Given the description of an element on the screen output the (x, y) to click on. 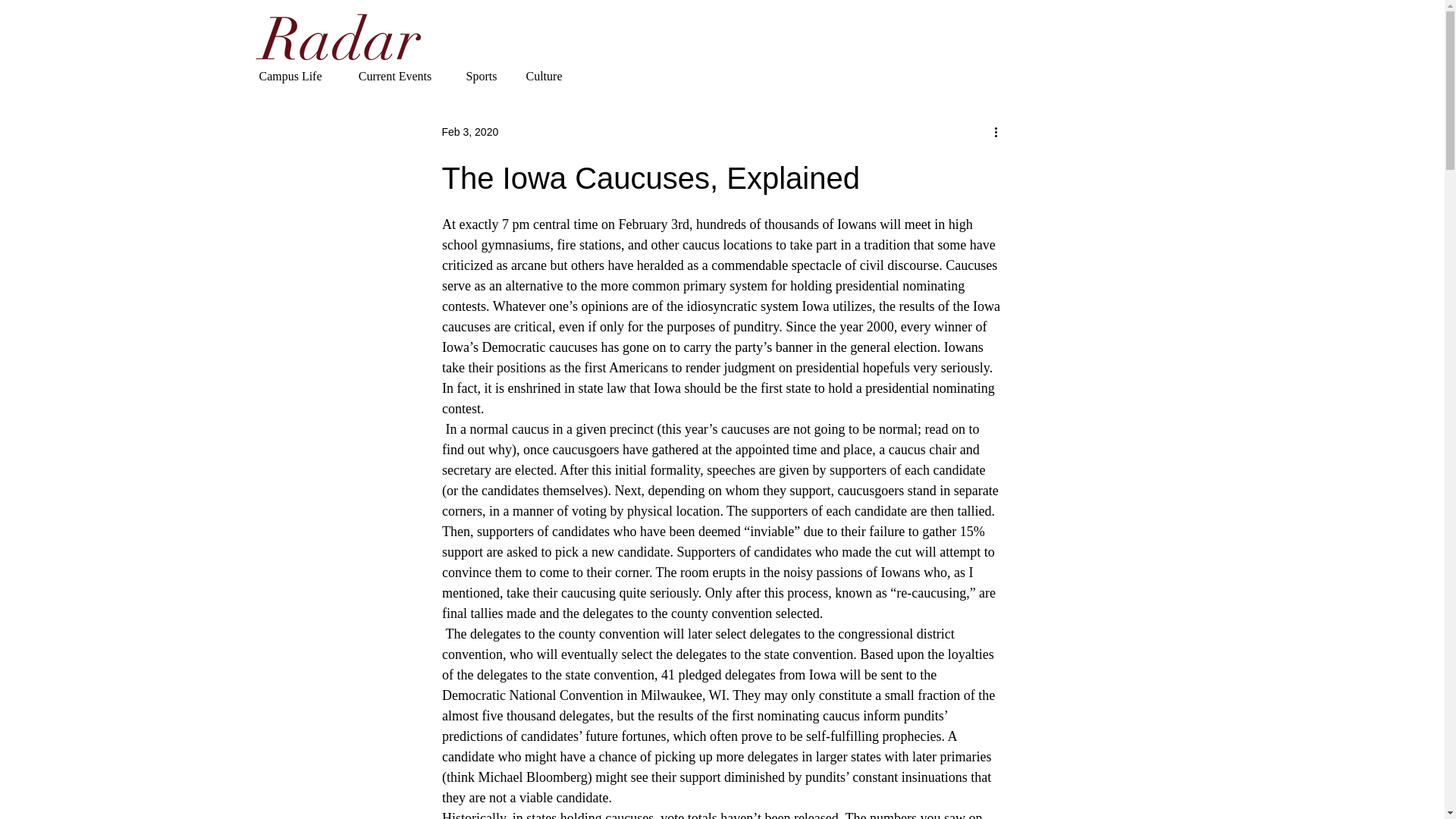
Current Events (394, 76)
Feb 3, 2020 (469, 132)
Culture (543, 76)
Sports (481, 76)
Campus Life (291, 76)
